Given the description of an element on the screen output the (x, y) to click on. 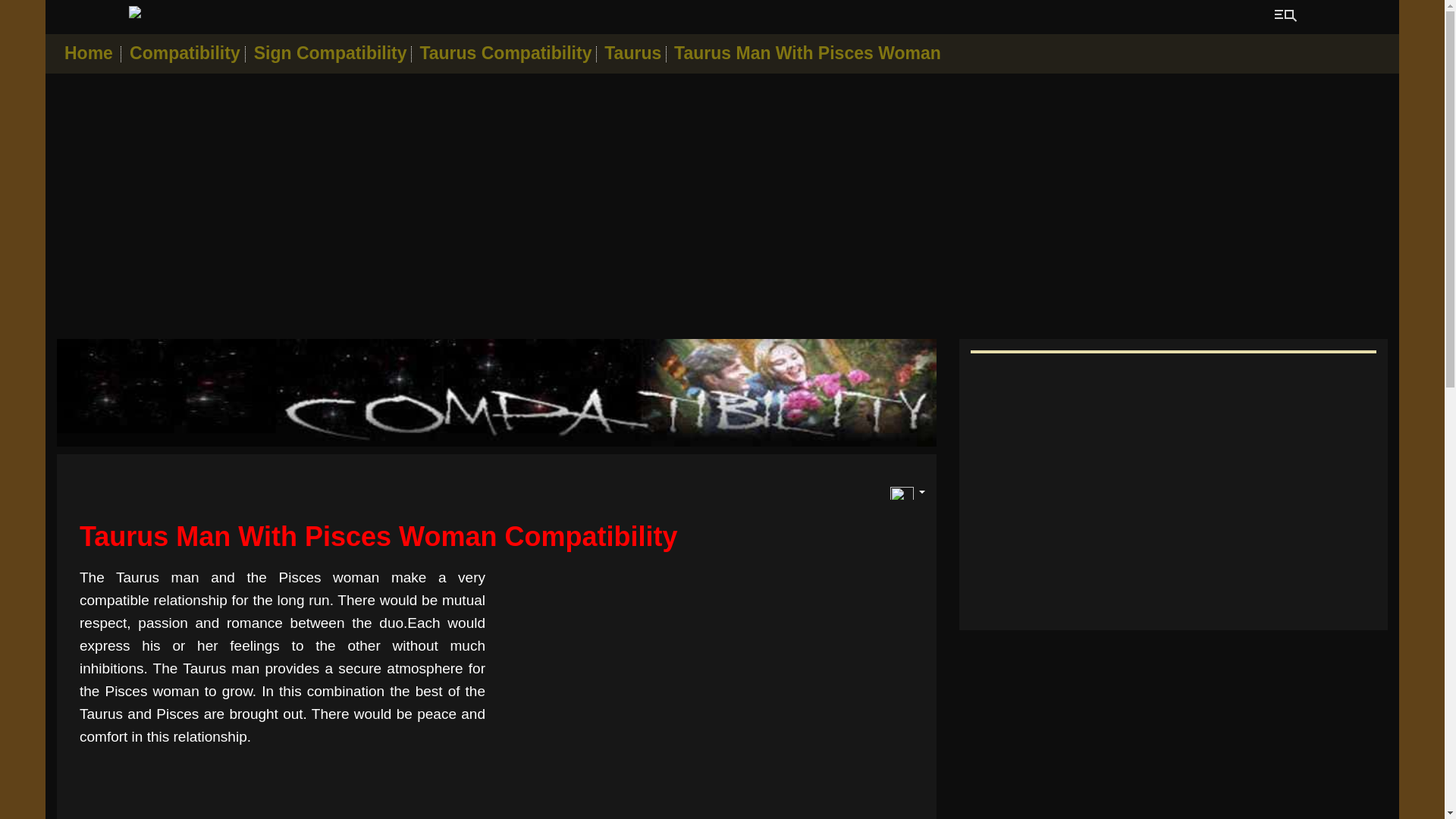
Taurus (632, 53)
Sign Compatibility (330, 53)
Taurus (496, 392)
Taurus man Pisces Woman (497, 536)
Compatibility (186, 53)
Taurus Compatibility (505, 53)
Home (88, 53)
Taurus Man With Pisces Woman (807, 53)
Taurus Man With Pisces Woman Compatibility (497, 536)
